Given the description of an element on the screen output the (x, y) to click on. 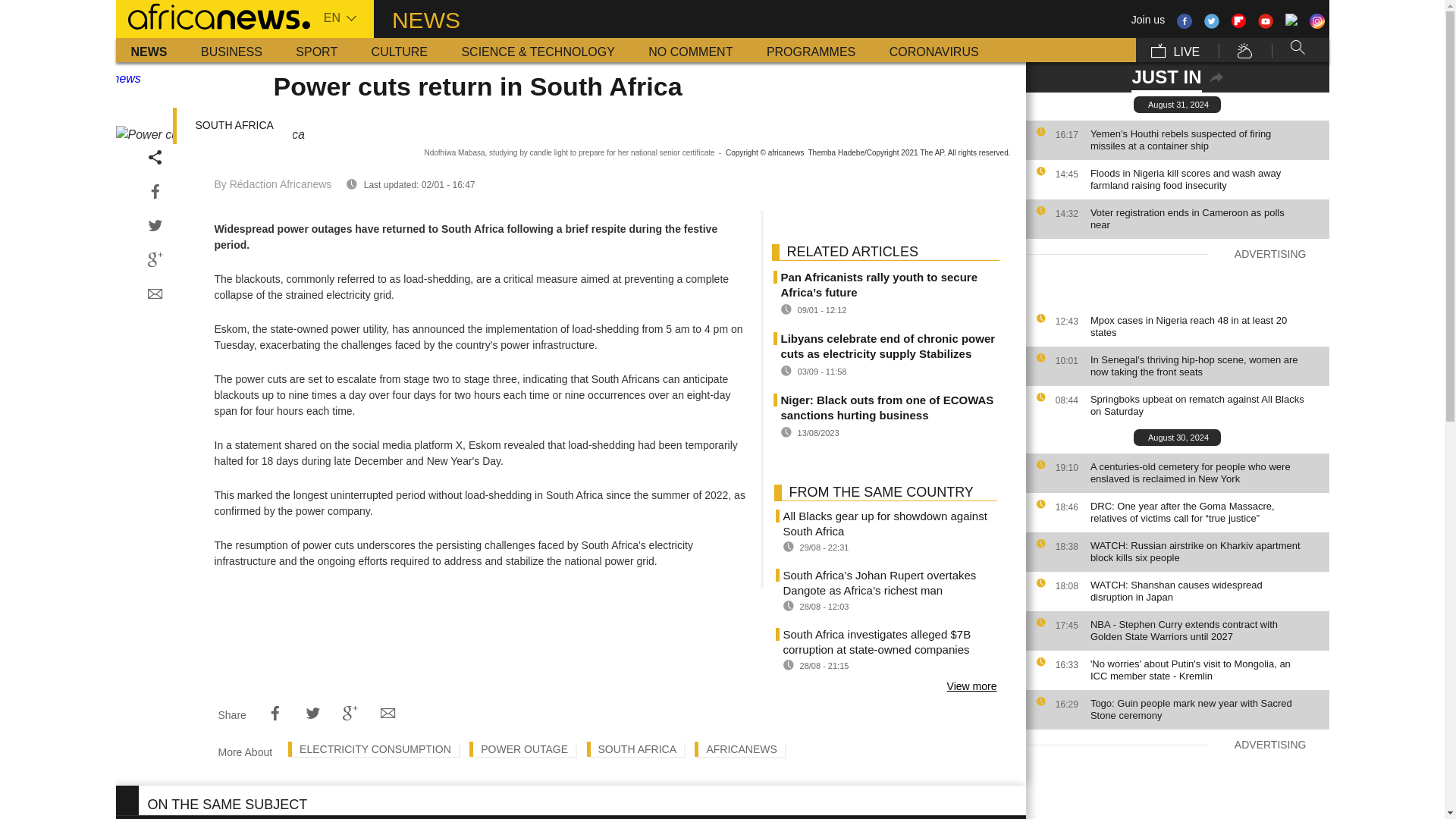
CULTURE (399, 49)
SPORT (316, 49)
Coronavirus (934, 49)
NO COMMENT (690, 49)
No Comment (690, 49)
Africanews (211, 15)
CORONAVIRUS (934, 49)
Mpox cases in Nigeria reach 48 in at least 20 states (1206, 326)
Sport (316, 49)
